Given the description of an element on the screen output the (x, y) to click on. 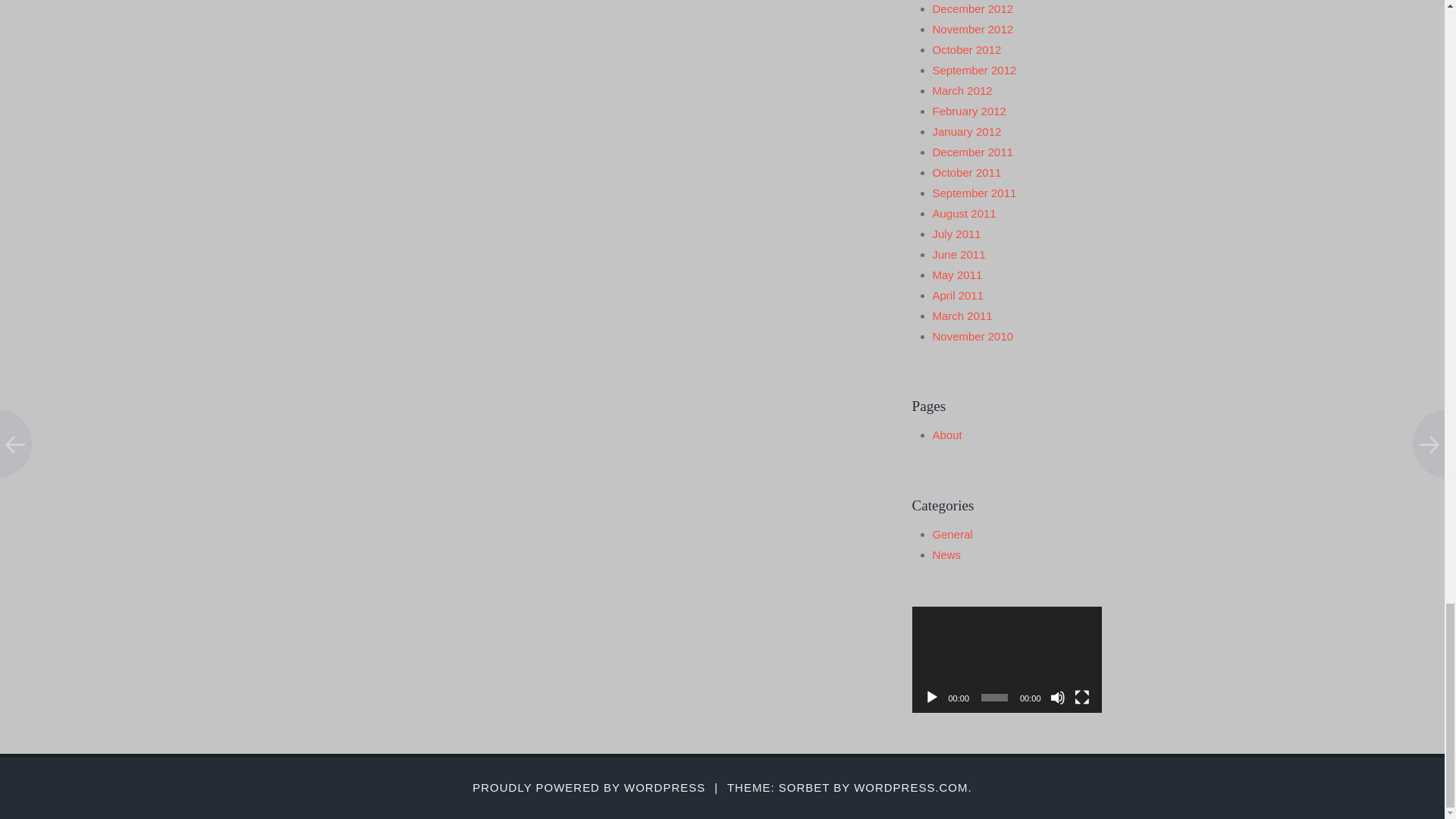
Play (931, 697)
Mute (1056, 697)
Fullscreen (1081, 697)
